Given the description of an element on the screen output the (x, y) to click on. 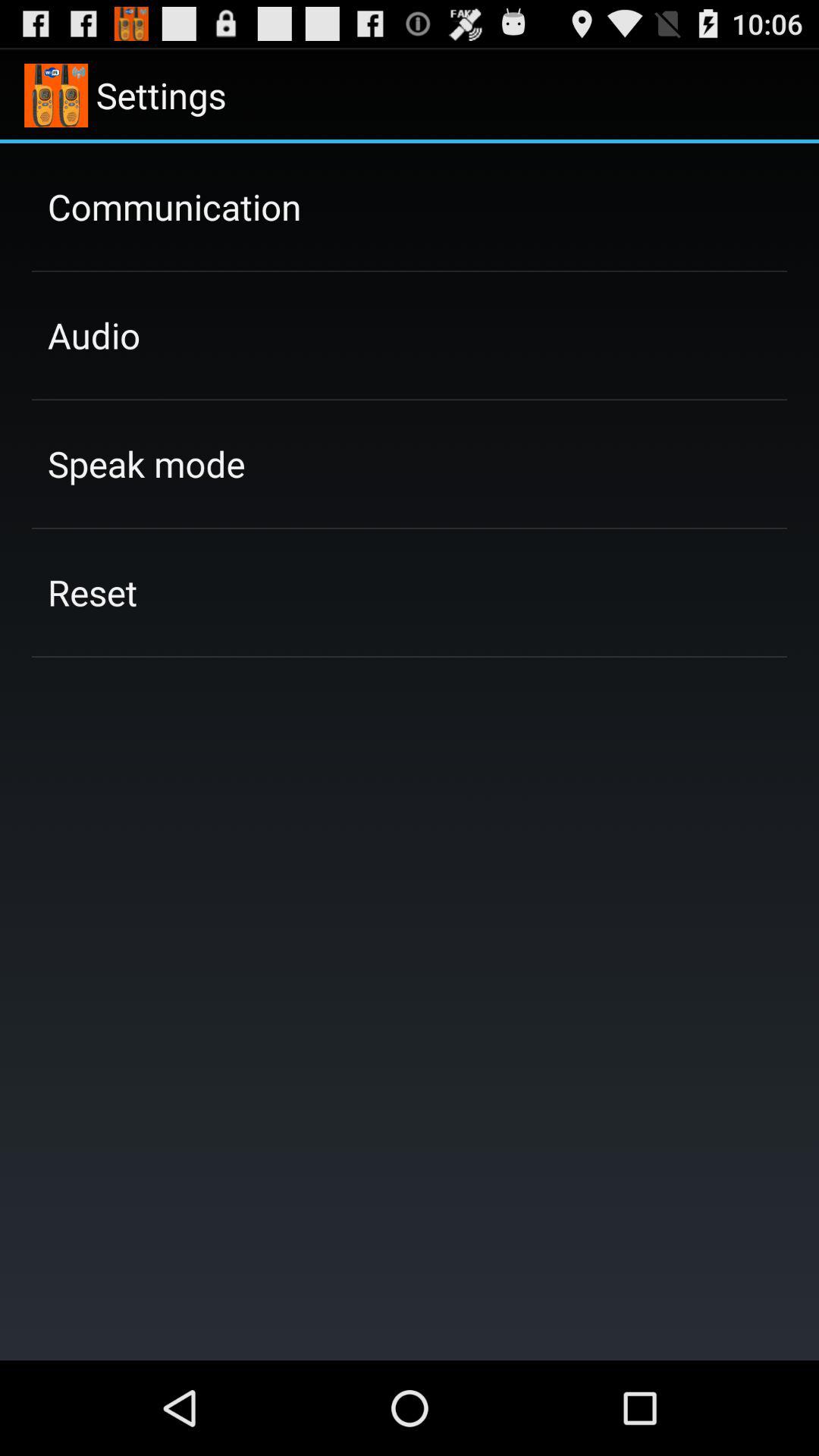
launch the reset app (92, 592)
